Given the description of an element on the screen output the (x, y) to click on. 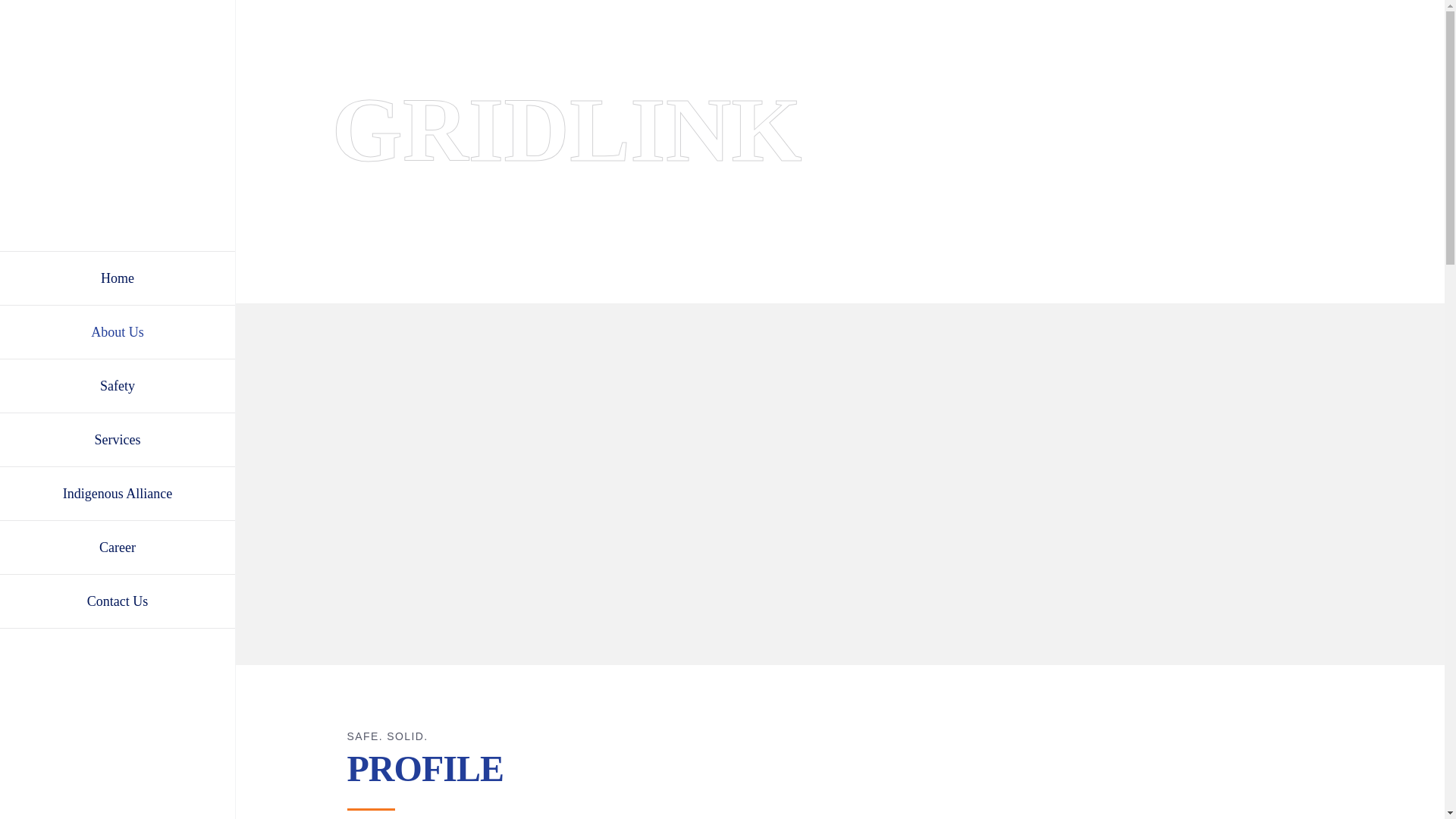
Career (117, 547)
Services (117, 439)
Home (117, 277)
Contact Us (117, 601)
Safety (117, 385)
About Us (117, 331)
Indigenous Alliance (117, 493)
